Given the description of an element on the screen output the (x, y) to click on. 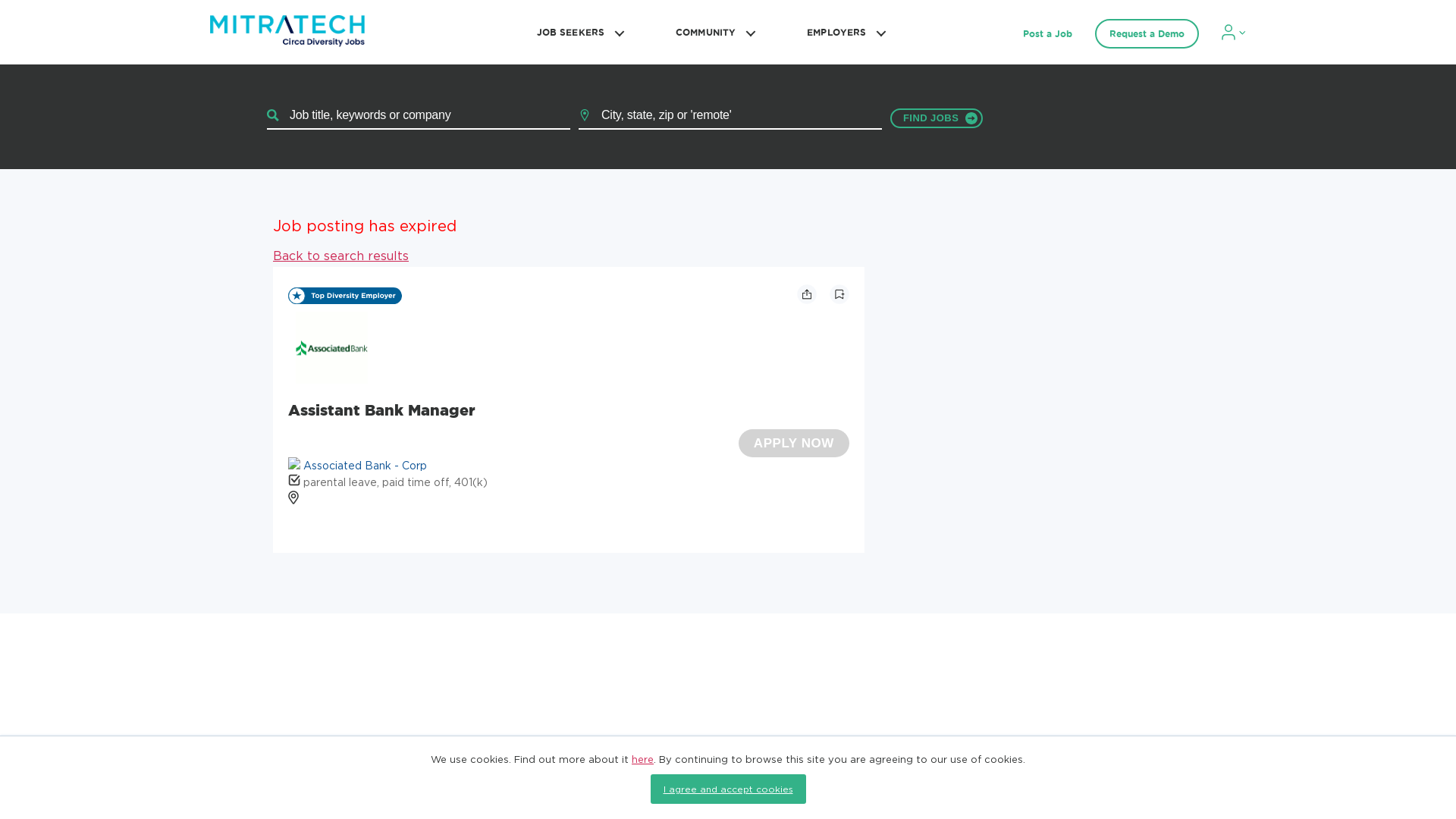
Where (730, 115)
Find Jobs (935, 117)
I agree and accept cookies (728, 788)
Apply Now (793, 442)
EMPLOYERS (843, 31)
What (418, 115)
JOB SEEKERS (578, 31)
SAVE THIS JOB (838, 293)
Job title, keywords or company (418, 115)
Share (806, 293)
